Given the description of an element on the screen output the (x, y) to click on. 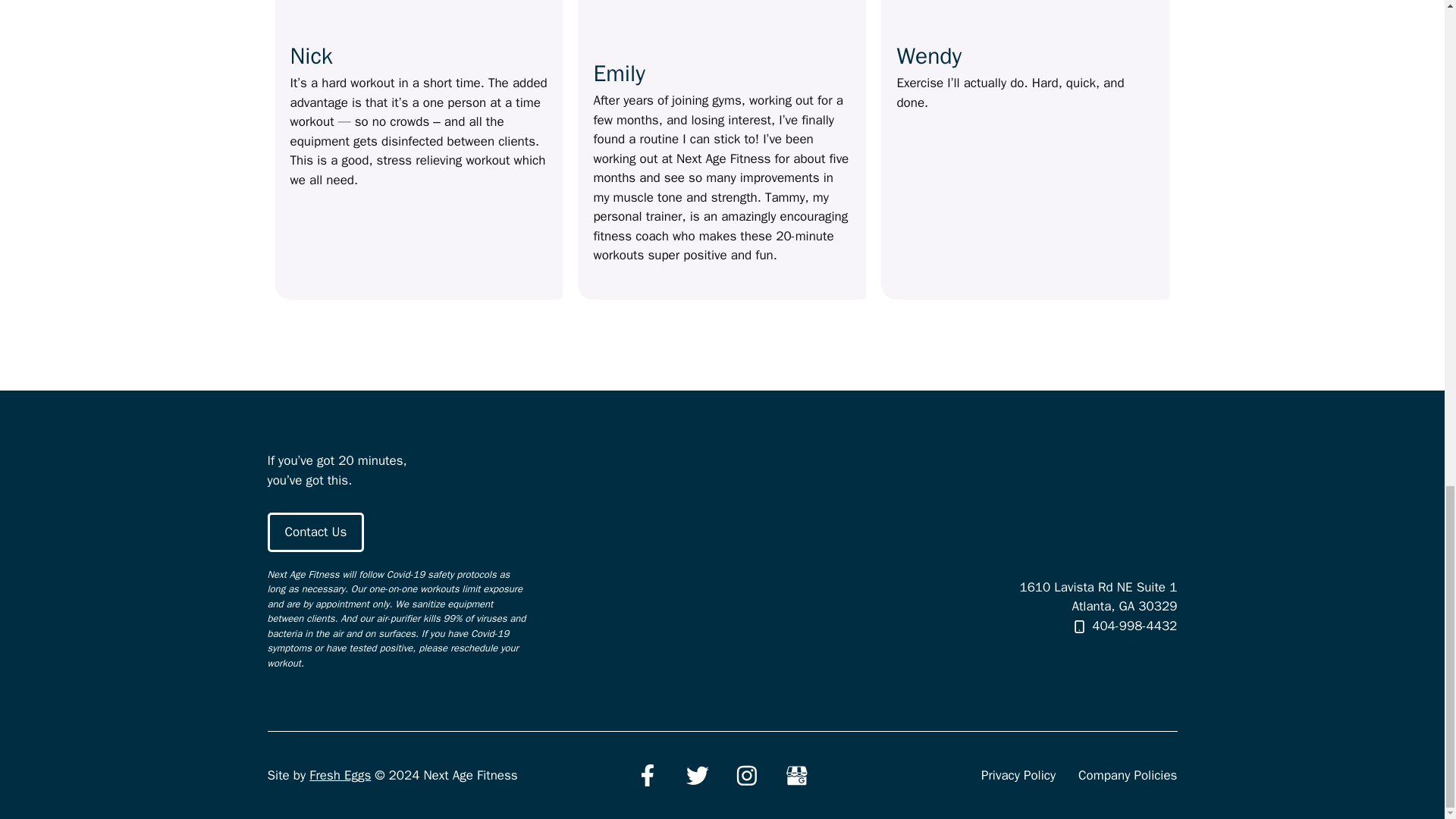
Privacy Policy (1018, 775)
Contact Us (315, 532)
Fresh Eggs (339, 774)
Scroll back to top (1406, 327)
Company Policies (1127, 775)
NAF-logo white (1085, 531)
Location (722, 568)
